Given the description of an element on the screen output the (x, y) to click on. 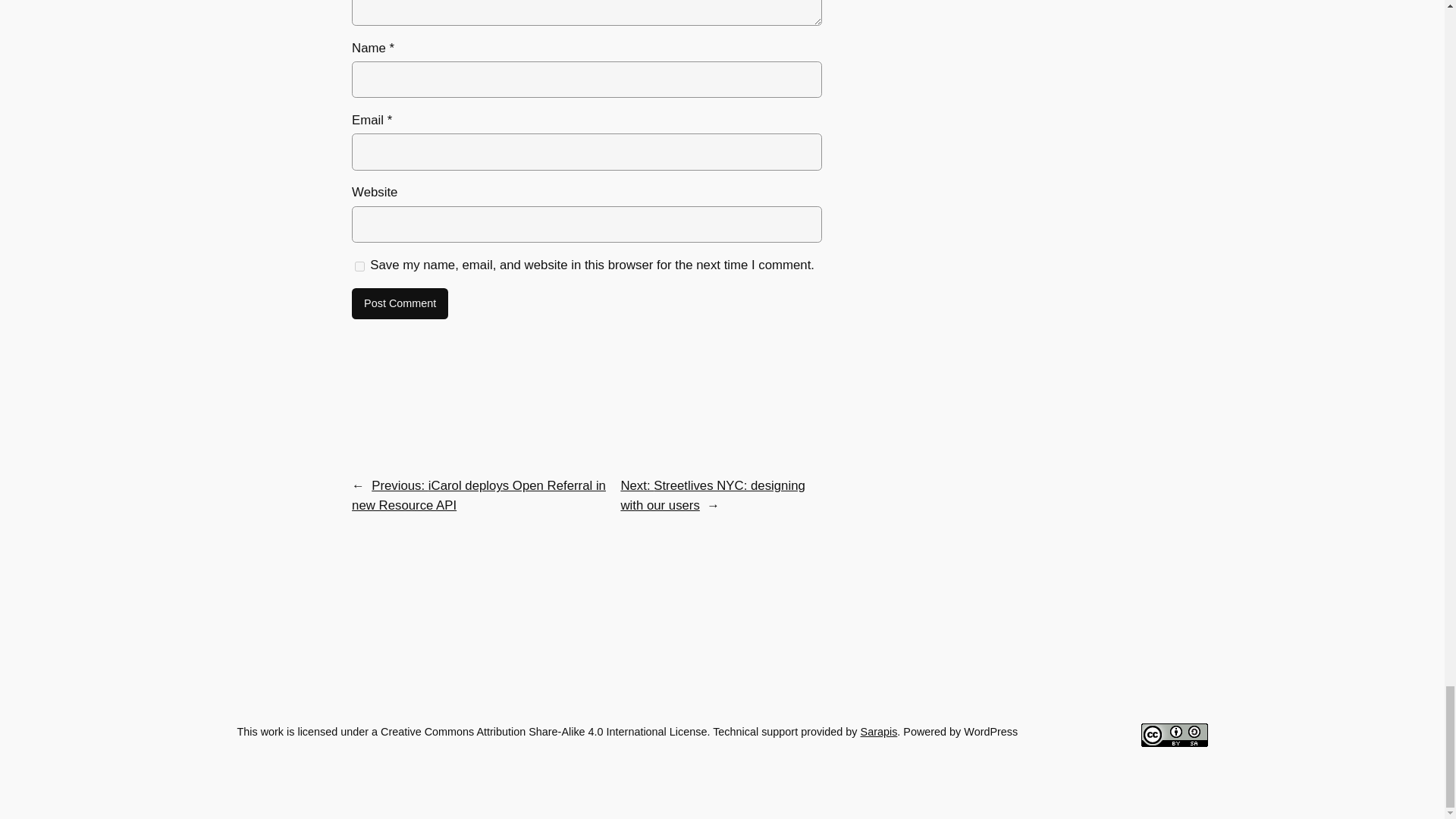
Post Comment (400, 304)
